Given the description of an element on the screen output the (x, y) to click on. 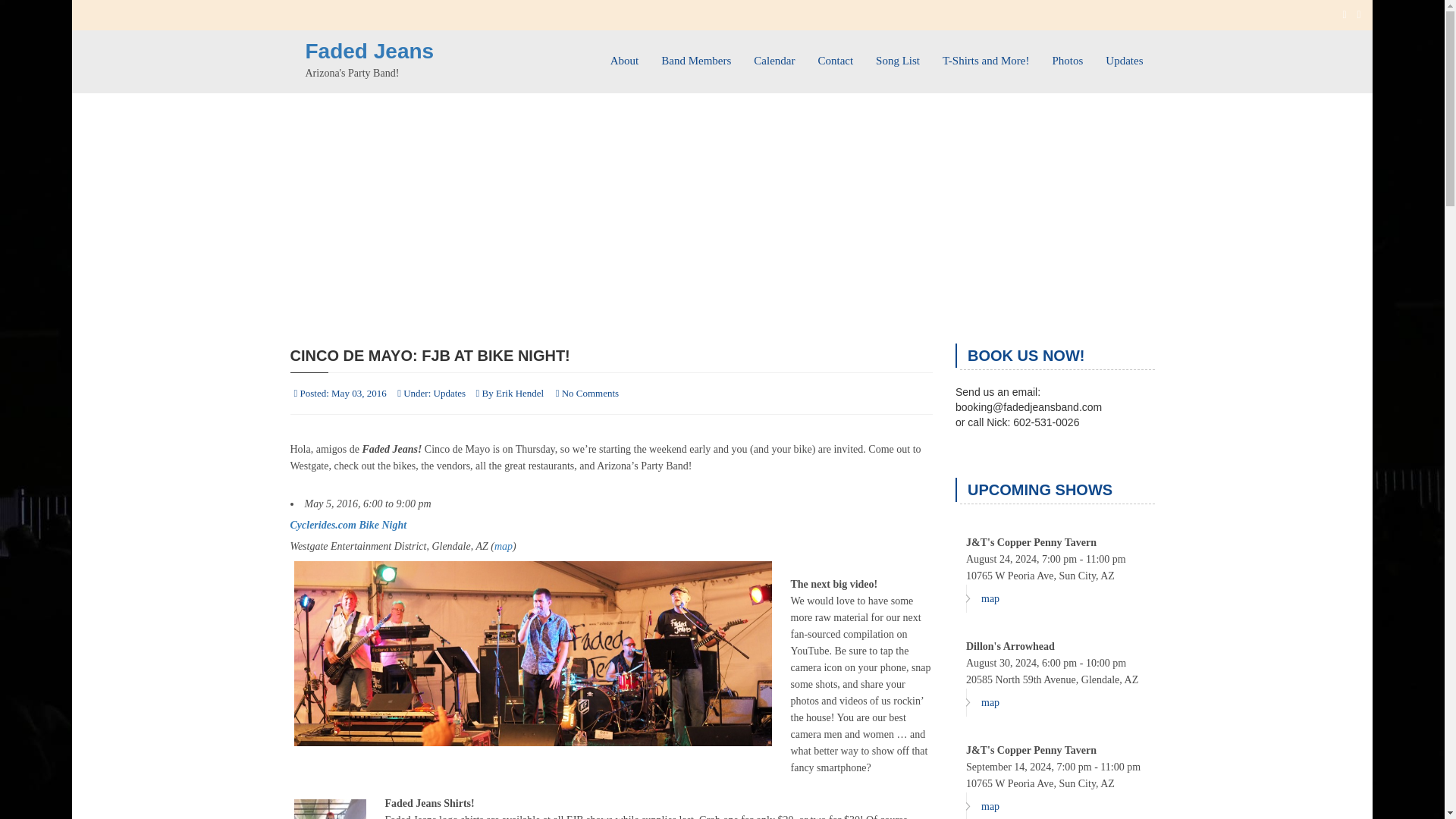
Calendar (774, 54)
map (982, 702)
map (982, 805)
T-Shirts and More! (986, 54)
map (503, 546)
Photos (1067, 54)
Band Members (695, 54)
Erik Hendel (520, 392)
About (624, 54)
Faded Jeans (368, 51)
Updates (1124, 54)
map (982, 598)
Cyclerides.com Bike Night (347, 524)
No Comments (590, 392)
Contact (835, 54)
